Given the description of an element on the screen output the (x, y) to click on. 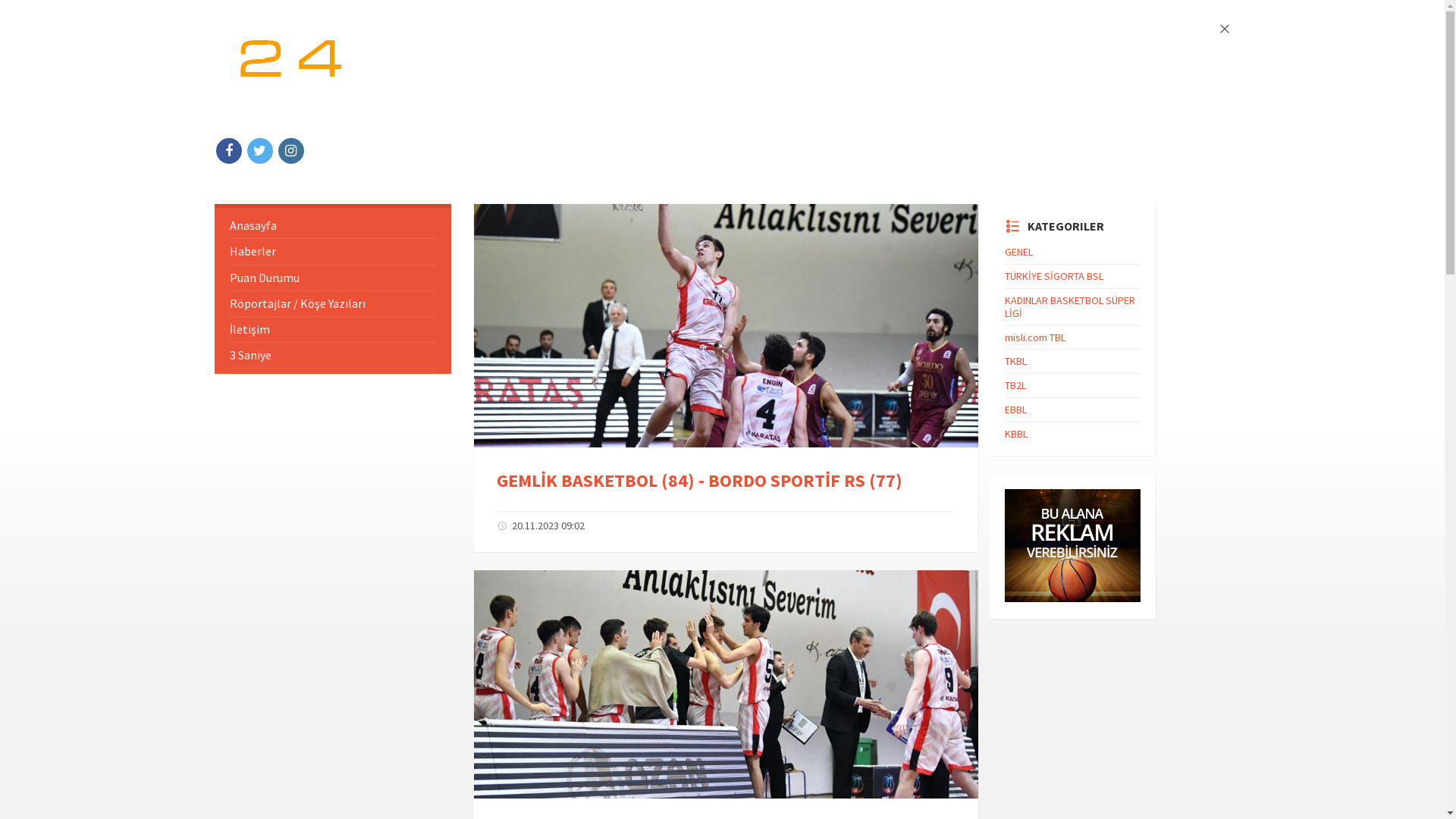
Anasayfa Element type: text (332, 225)
TKBL Element type: text (1015, 360)
TB2L Element type: text (1015, 385)
Puan Durumu Element type: text (332, 277)
3 Saniye Element type: text (332, 354)
EBBL Element type: text (1015, 409)
KBBL Element type: text (1015, 433)
misli.com TBL Element type: text (1034, 337)
GENEL Element type: text (1018, 251)
Haberler Element type: text (332, 250)
